Given the description of an element on the screen output the (x, y) to click on. 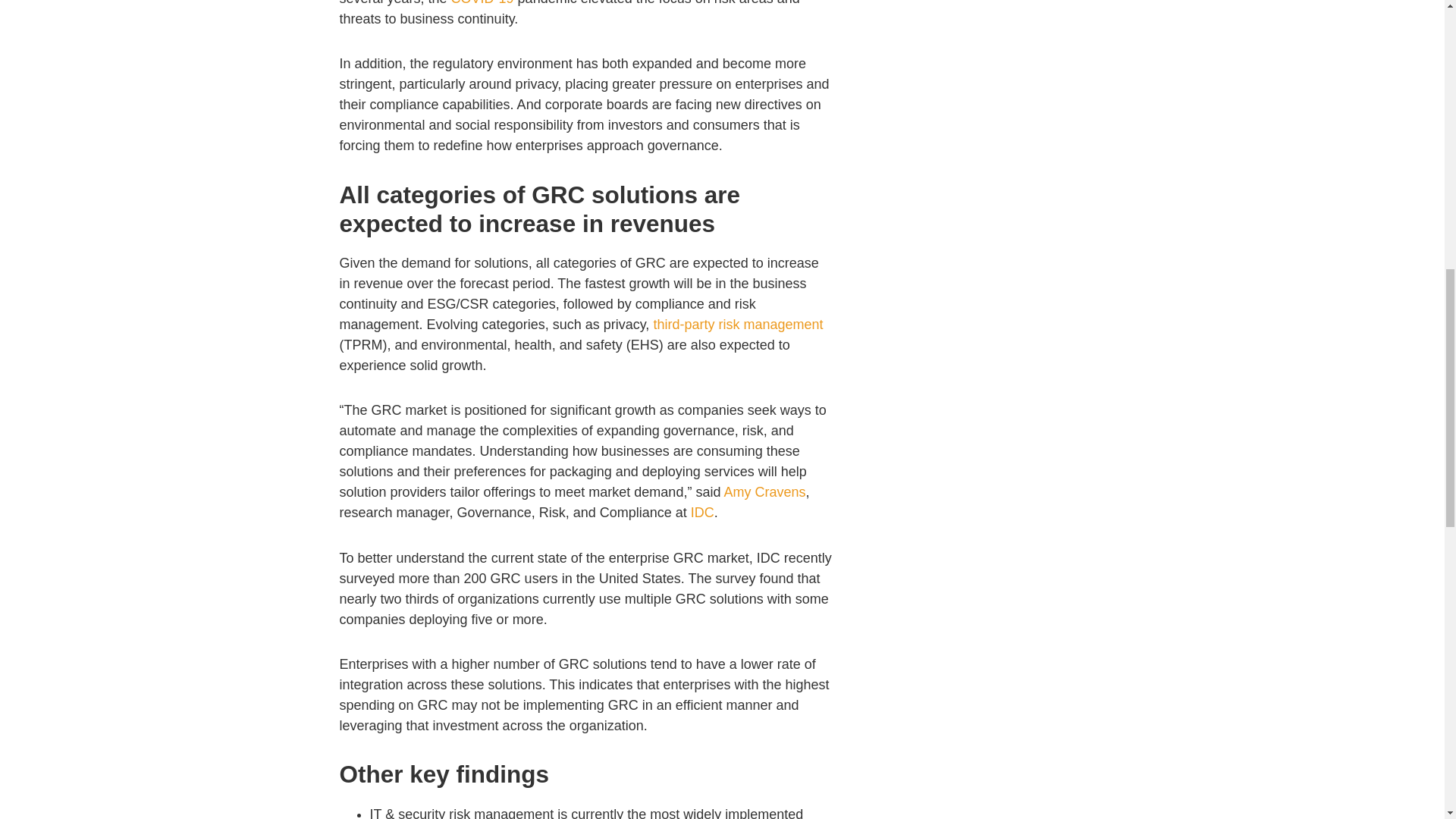
COVID-19 (482, 2)
IDC (702, 512)
Amy Cravens (764, 491)
third-party risk management (737, 324)
